Given the description of an element on the screen output the (x, y) to click on. 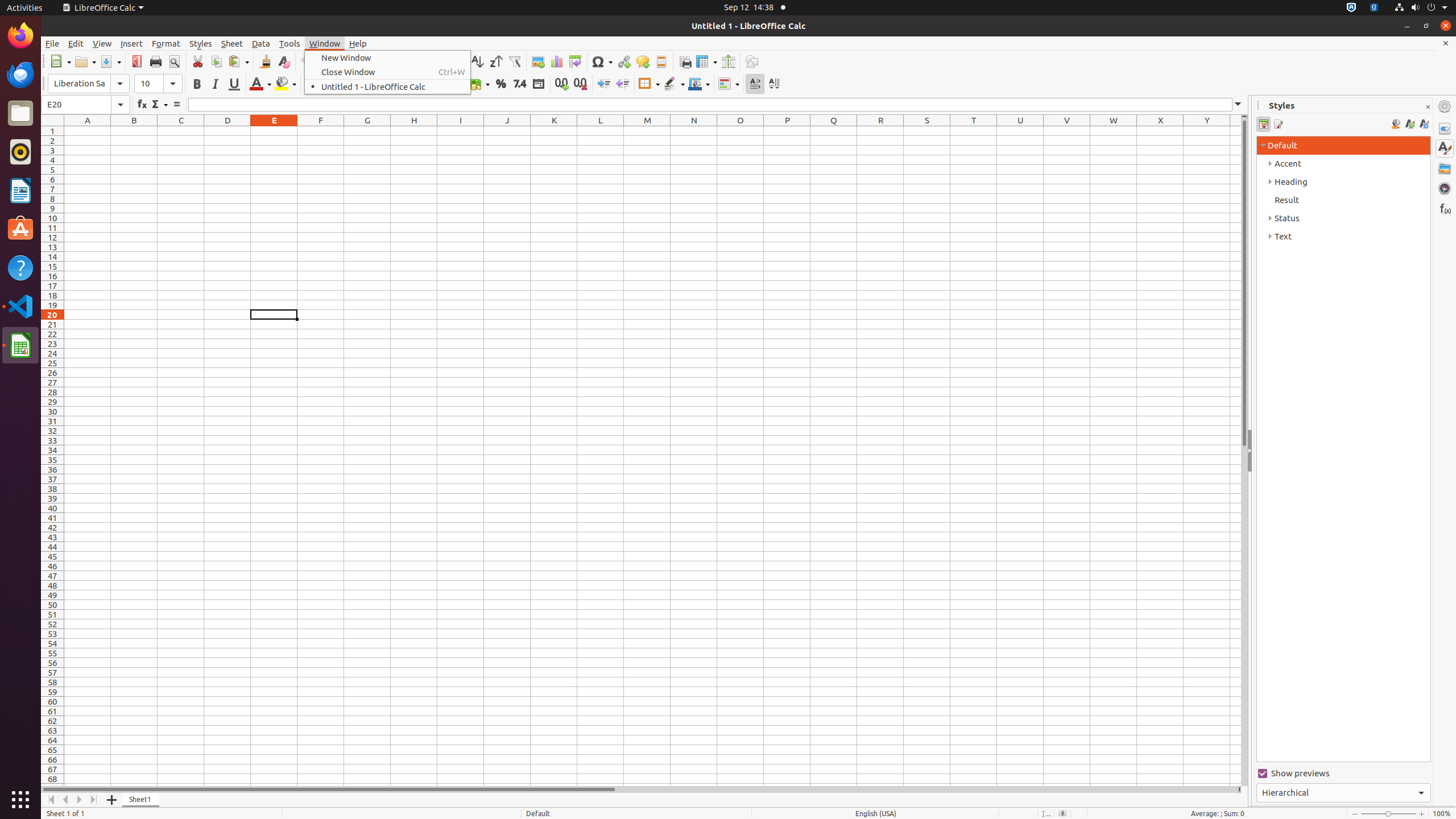
Delete Decimal Place Element type: push-button (580, 83)
V1 Element type: table-cell (1066, 130)
Select Function Element type: push-button (159, 104)
D1 Element type: table-cell (227, 130)
Untitled 1 - LibreOffice Calc Element type: radio-menu-item (387, 86)
